Given the description of an element on the screen output the (x, y) to click on. 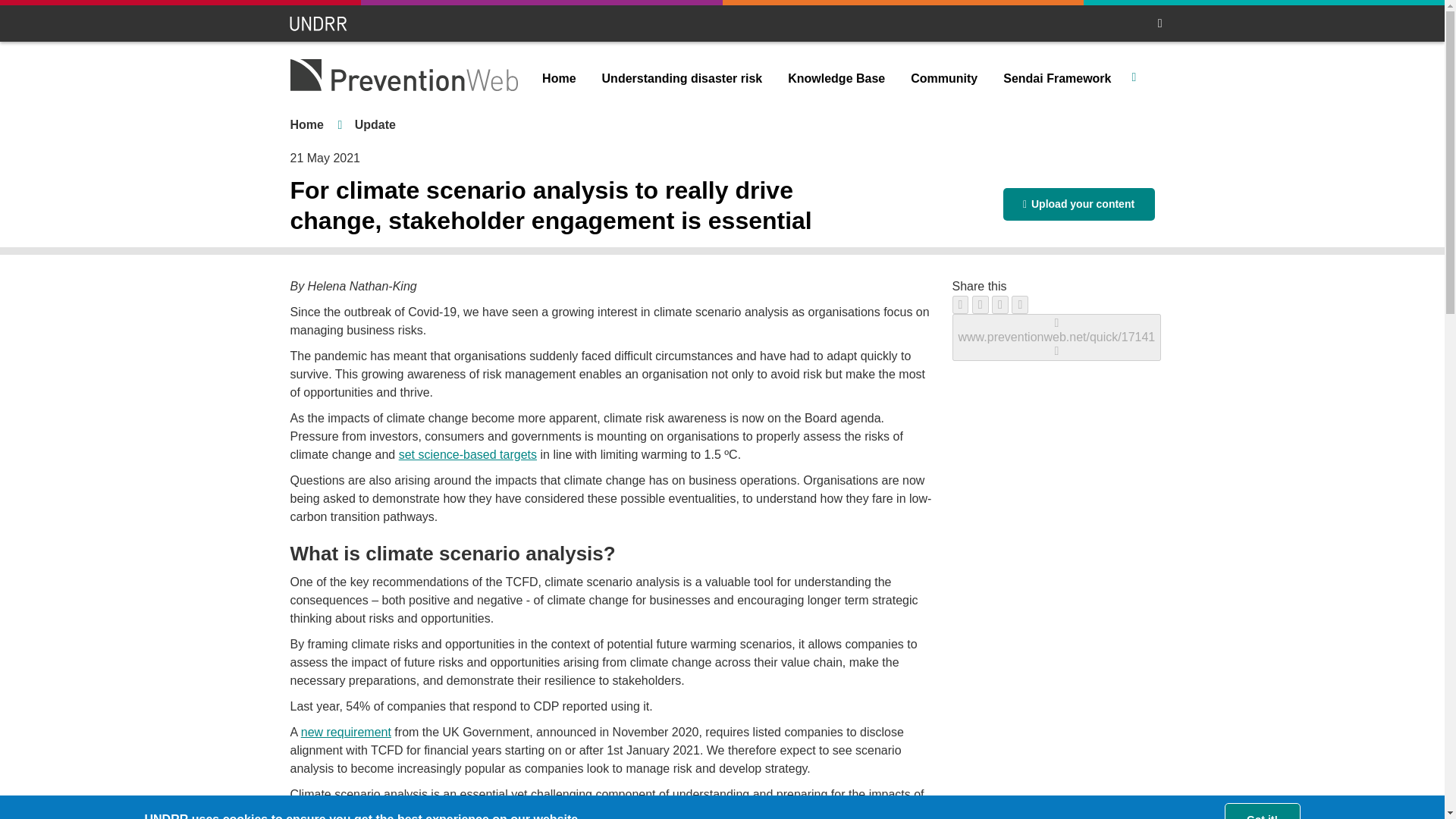
Share on LinkedIn (1000, 304)
Home (306, 124)
Share via Email (1019, 304)
set science-based targets (467, 454)
Sendai Framework (1057, 78)
Understanding disaster risk (682, 78)
Knowledge Base (836, 78)
Copy to Clipboard (1056, 336)
Upload your content (1078, 204)
